Given the description of an element on the screen output the (x, y) to click on. 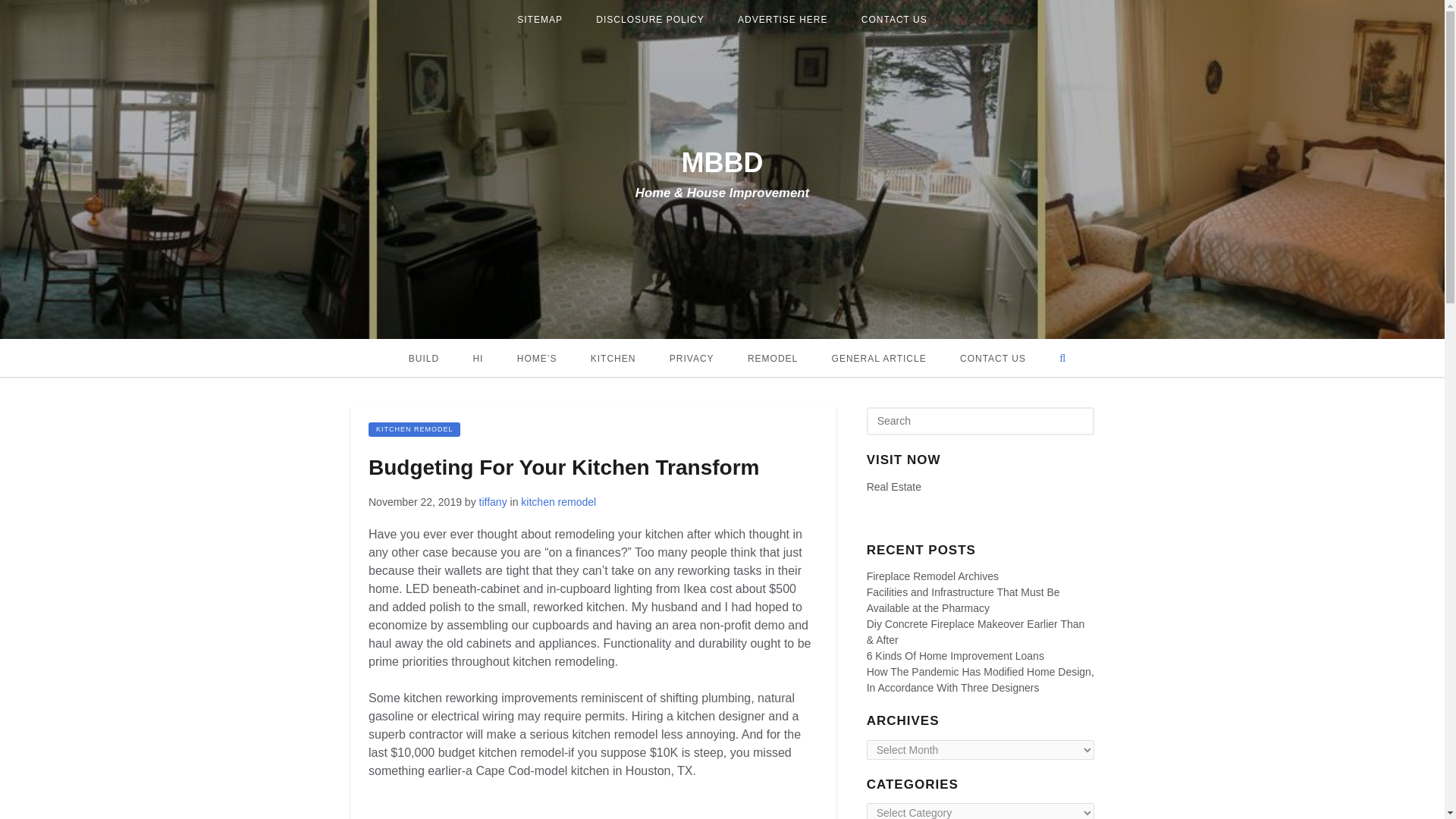
ADVERTISE HERE (782, 19)
kitchen remodel (414, 429)
MBBD (721, 162)
REMODEL (772, 358)
HI (477, 358)
BUILD (423, 358)
CONTACT US (893, 19)
PRIVACY (691, 358)
GENERAL ARTICLE (879, 358)
DISCLOSURE POLICY (649, 19)
